Given the description of an element on the screen output the (x, y) to click on. 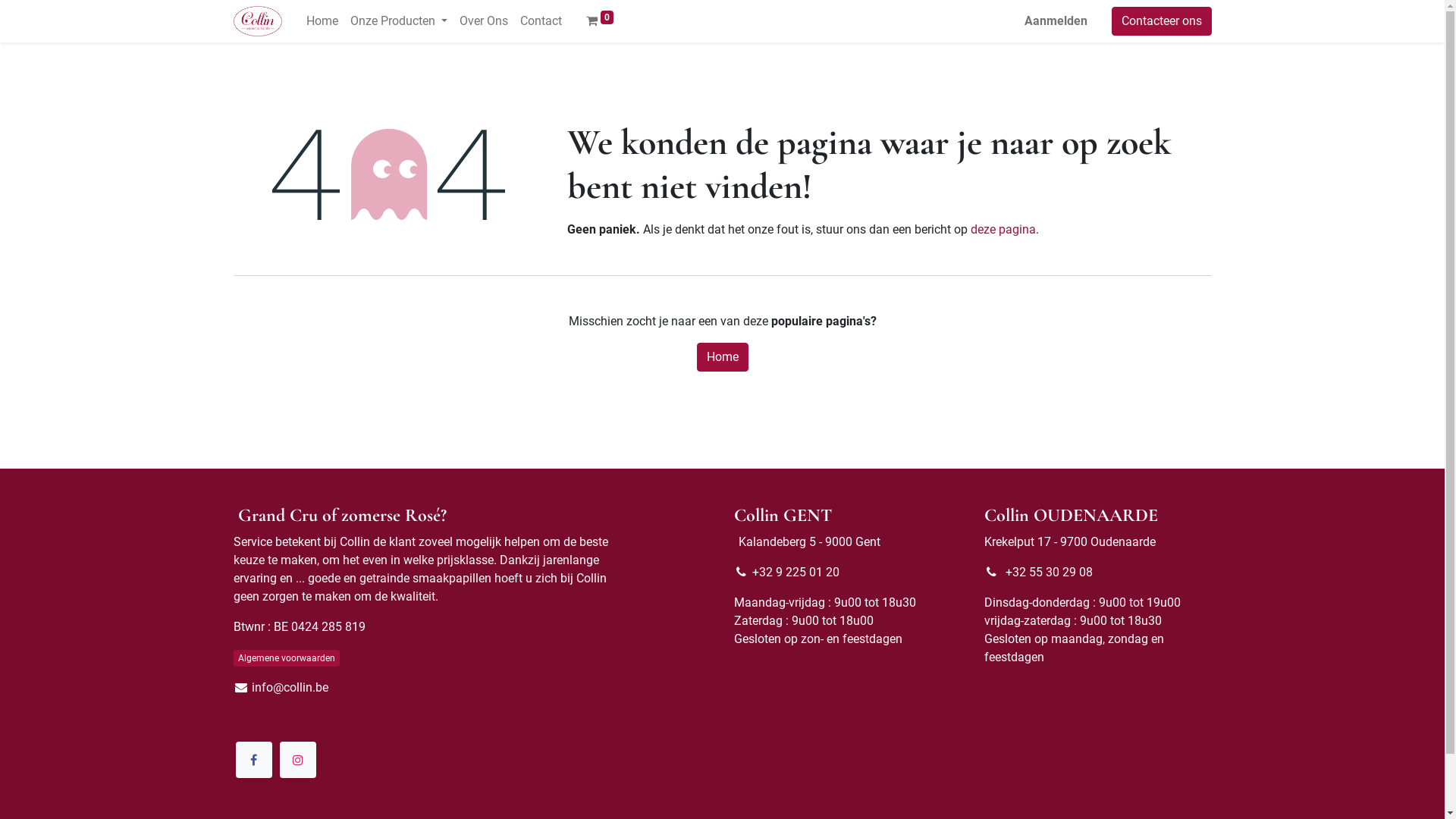
Contact Element type: text (540, 21)
Algemene voorwaarden Element type: text (286, 657)
Over Ons Element type: text (483, 21)
deze pagina Element type: text (1002, 229)
Home Element type: text (322, 21)
Onze Producten Element type: text (398, 21)
Home Element type: text (721, 356)
Contacteer ons Element type: text (1161, 20)
Collin Wijnen Element type: hover (257, 21)
Aanmelden Element type: text (1054, 21)
0 Element type: text (599, 21)
